Given the description of an element on the screen output the (x, y) to click on. 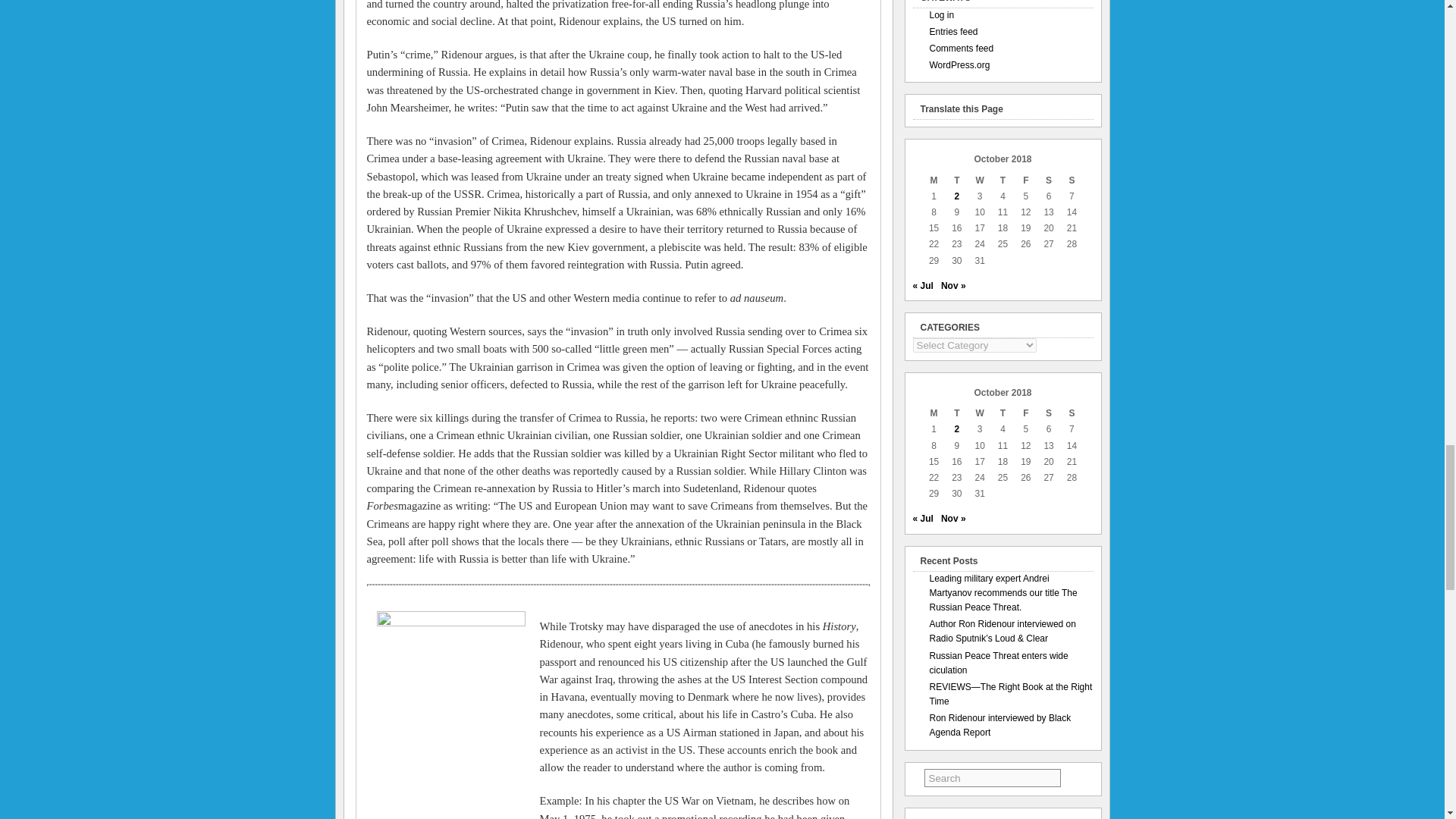
Search (992, 778)
Search (992, 778)
